Given the description of an element on the screen output the (x, y) to click on. 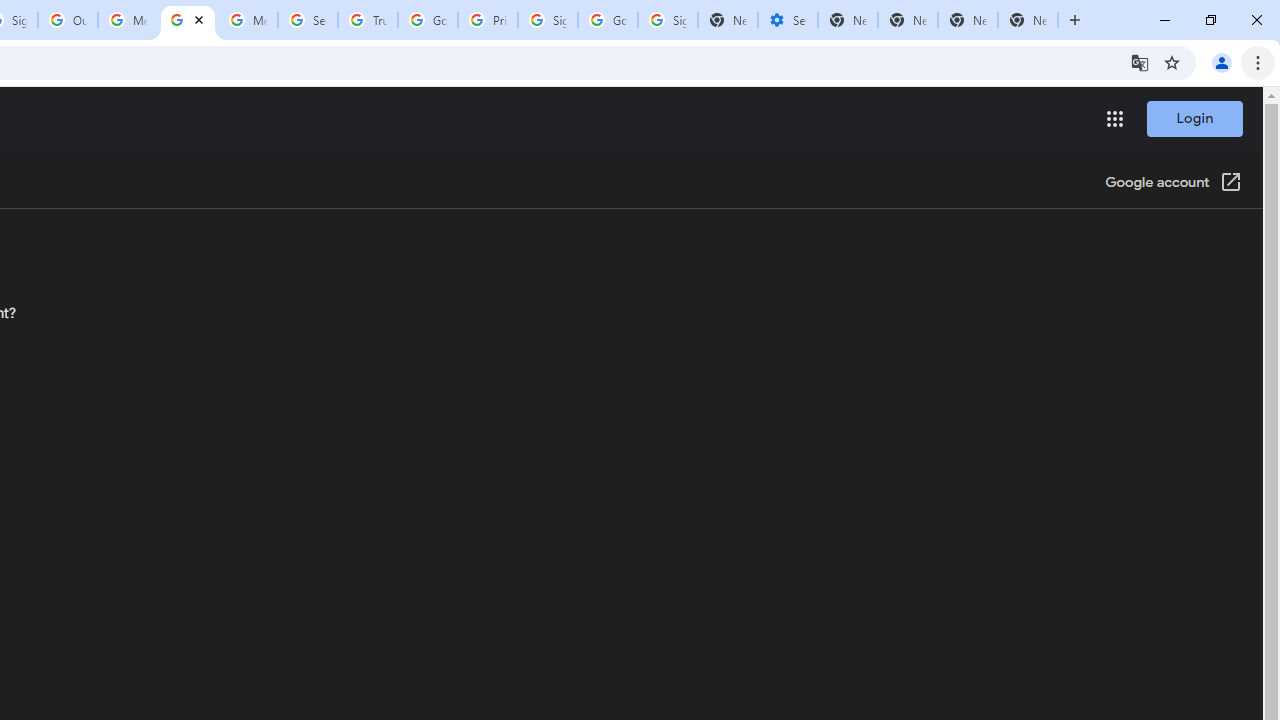
Login (1194, 118)
Settings - Performance (787, 20)
Sign in - Google Accounts (667, 20)
New Tab (1028, 20)
Google Ads - Sign in (428, 20)
